Given the description of an element on the screen output the (x, y) to click on. 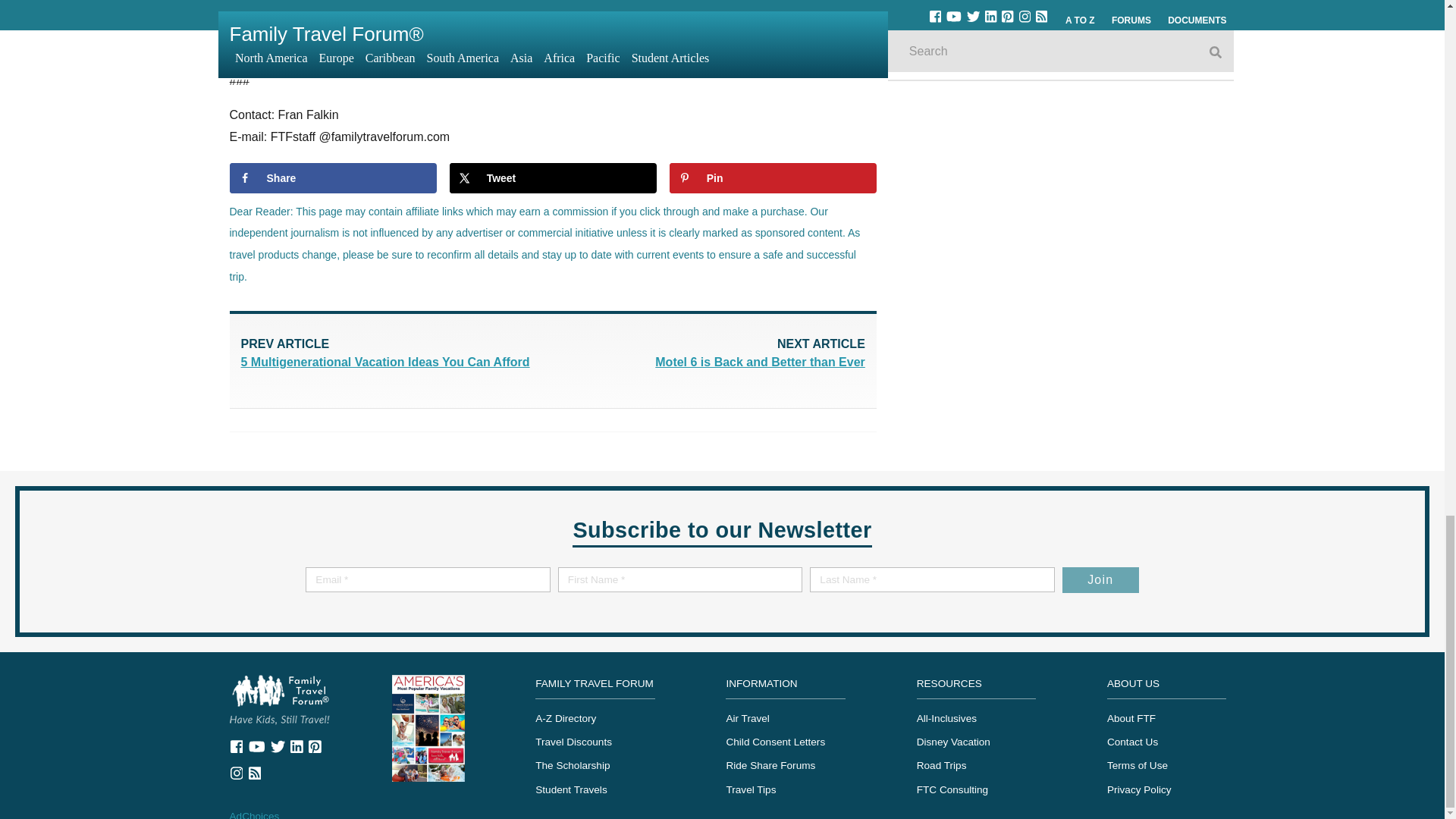
Share (331, 177)
Share on Facebook (710, 354)
America's Most Popular Family Vacations (331, 177)
Pin (427, 727)
Share on X (772, 177)
My Family Travels (552, 177)
Save to Pinterest (279, 698)
Join (772, 177)
